Given the description of an element on the screen output the (x, y) to click on. 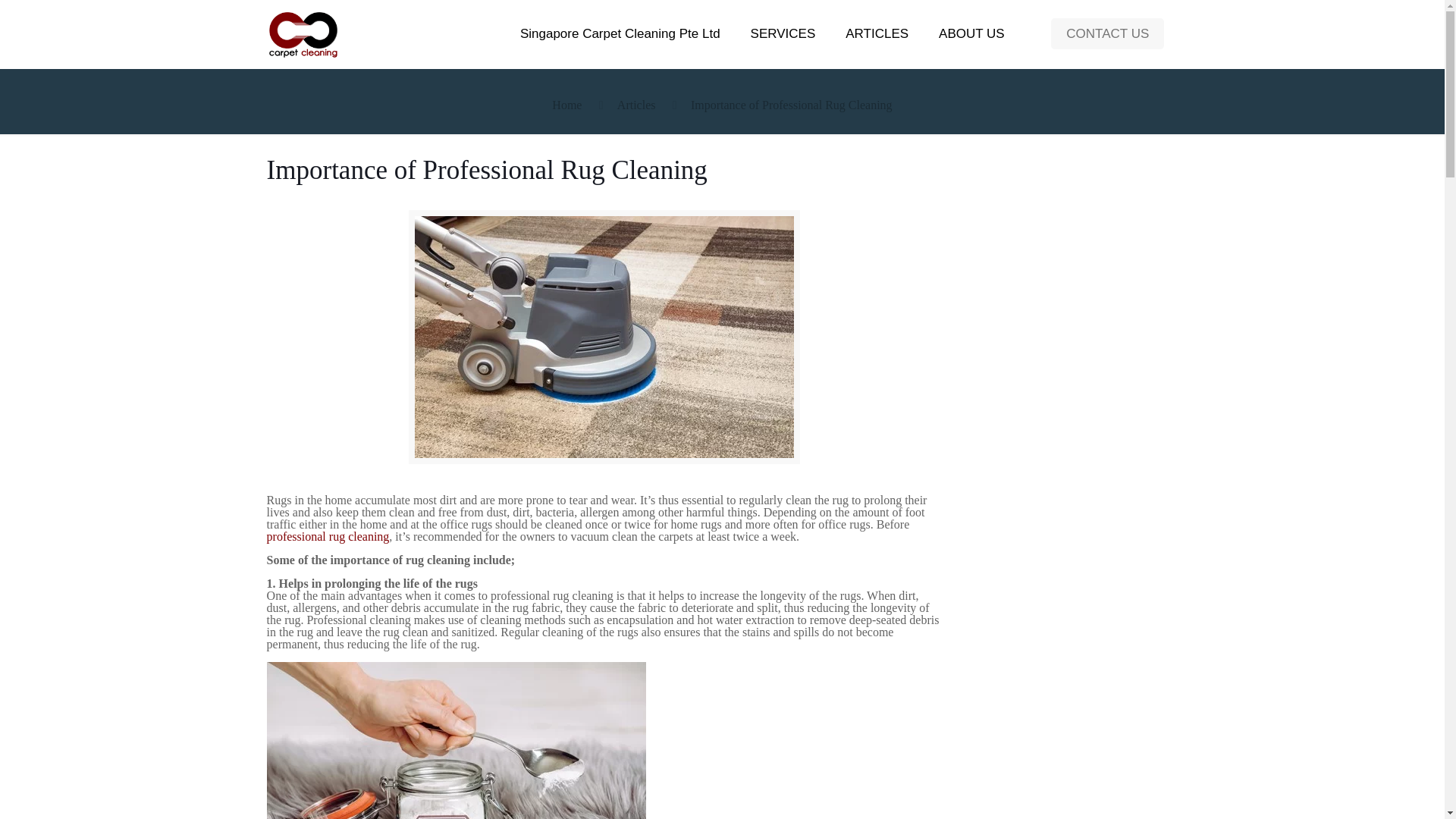
Singapore Carpet Cleaning Pte Ltd (303, 33)
professional rug cleaning (328, 535)
SERVICES (783, 33)
ABOUT US (971, 33)
Importance of Professional Rug Cleaning (791, 104)
CONTACT US (1107, 33)
Home (565, 104)
Articles (636, 104)
ARTICLES (876, 33)
Singapore Carpet Cleaning Pte Ltd (620, 33)
